Given the description of an element on the screen output the (x, y) to click on. 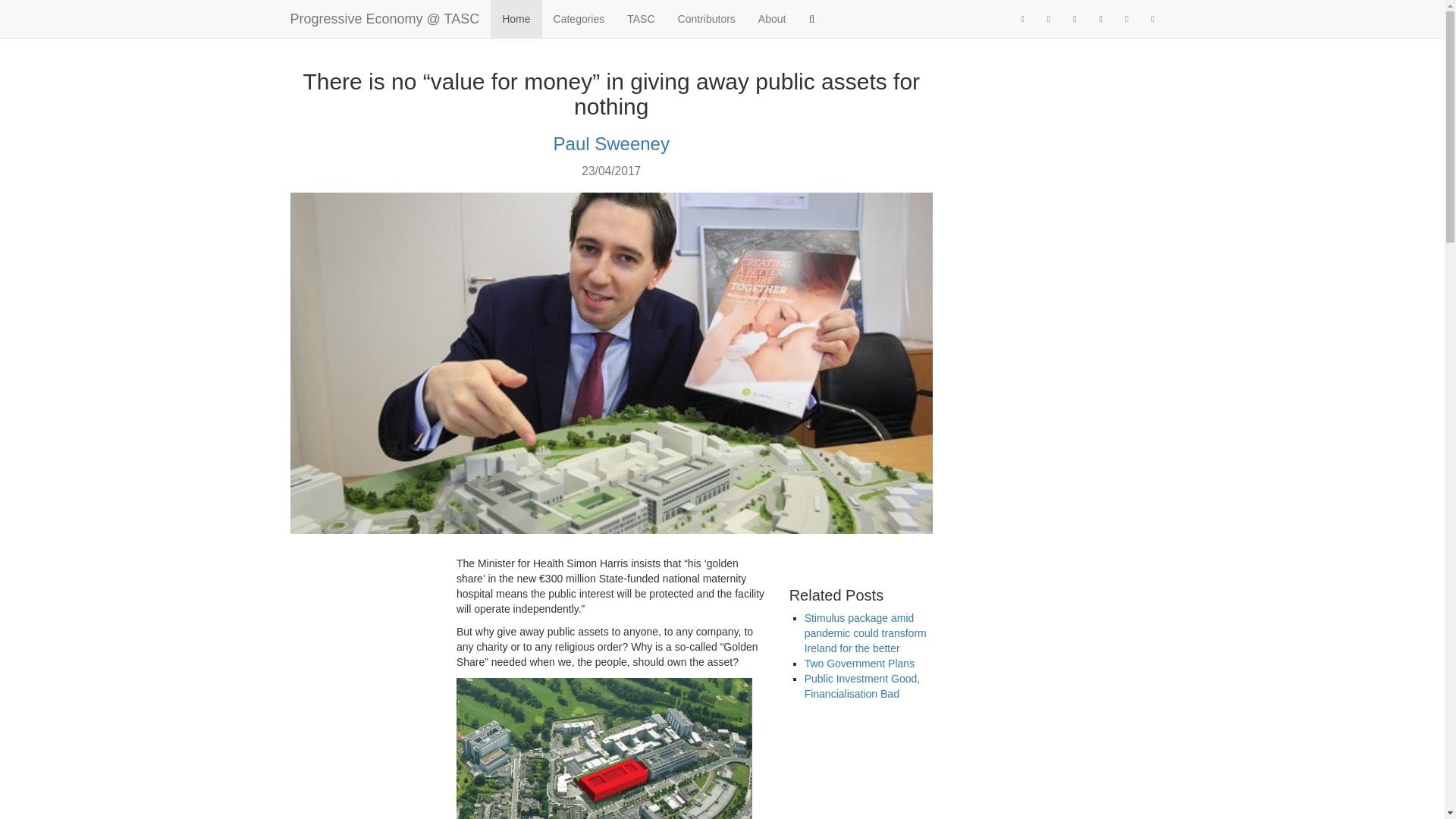
Public Investment Good, Financialisation Bad (862, 686)
Categories (578, 18)
About (771, 18)
Paul Sweeney (611, 143)
TASC (640, 18)
Two Government Plans (860, 663)
Home (515, 18)
Contributors (706, 18)
